Given the description of an element on the screen output the (x, y) to click on. 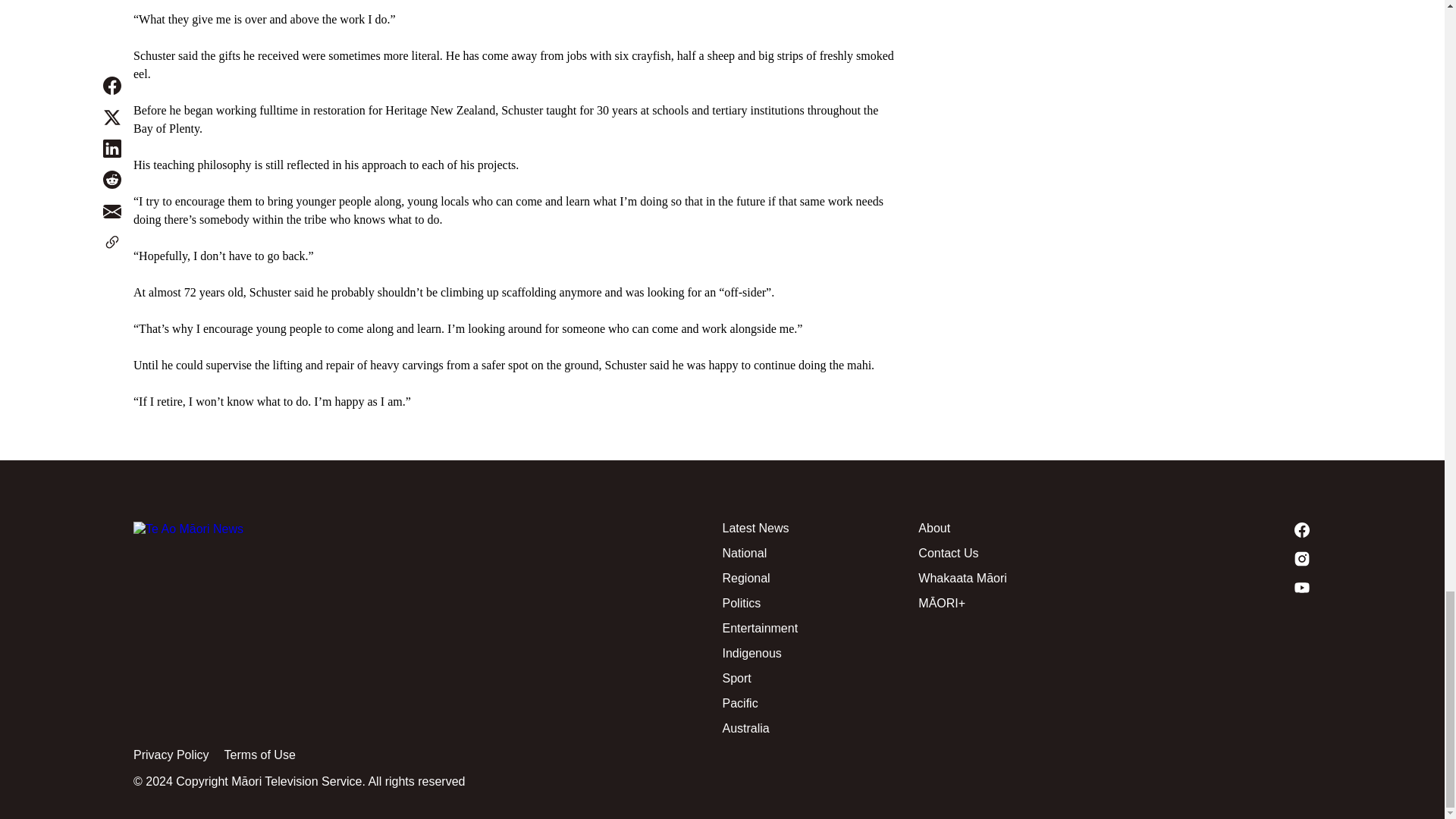
Facebook (1213, 529)
Latest News (820, 527)
Instagram (1213, 558)
Youtube (1213, 587)
